Given the description of an element on the screen output the (x, y) to click on. 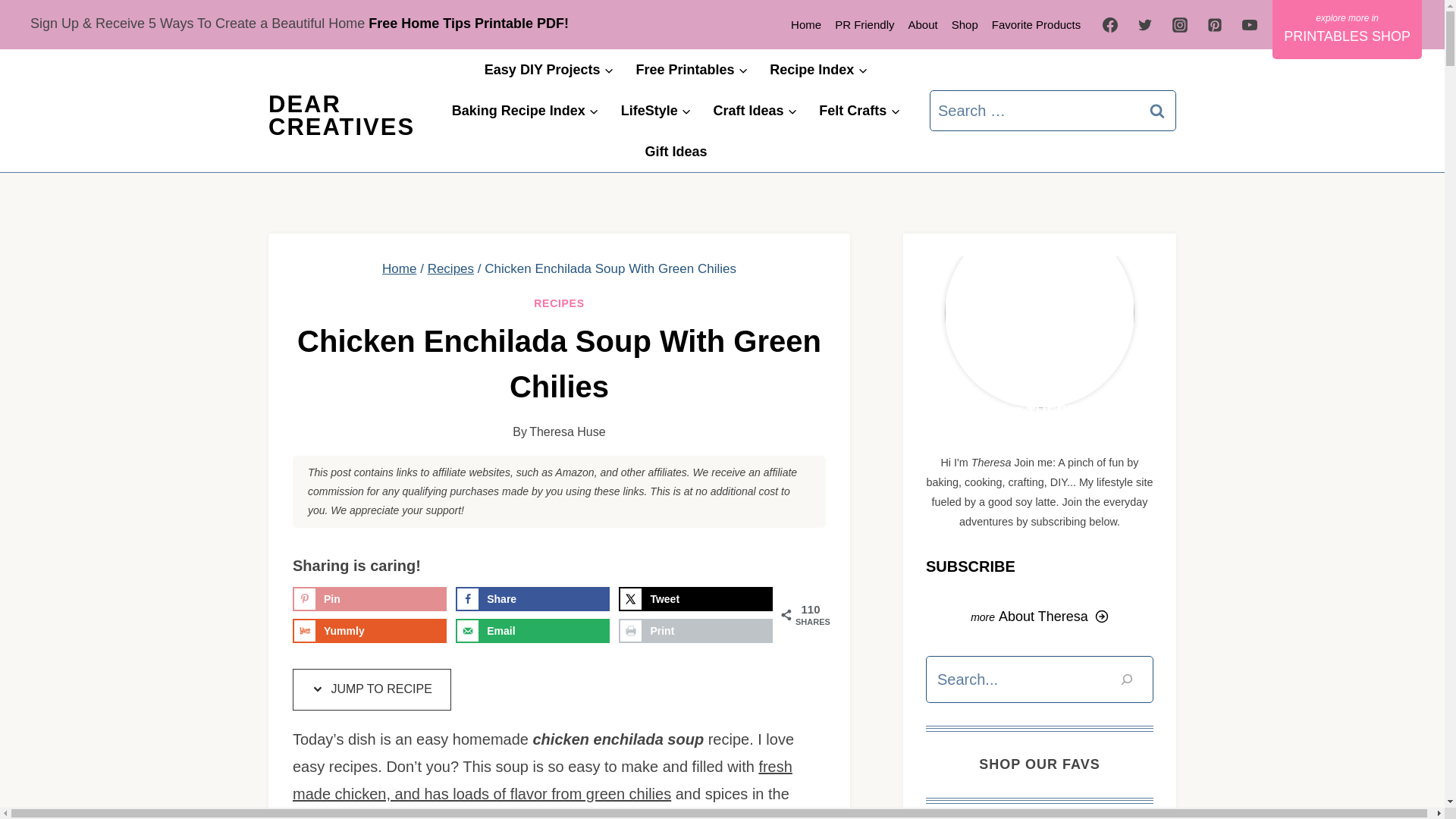
DEAR CREATIVES (340, 115)
PR Friendly (864, 24)
About (922, 24)
Easy DIY Projects (548, 69)
Search (1157, 110)
Home (806, 24)
Favorite Products (1036, 24)
Free Printables  (691, 69)
Search (1157, 110)
Free Home Tips Printable PDF!   (472, 23)
